Given the description of an element on the screen output the (x, y) to click on. 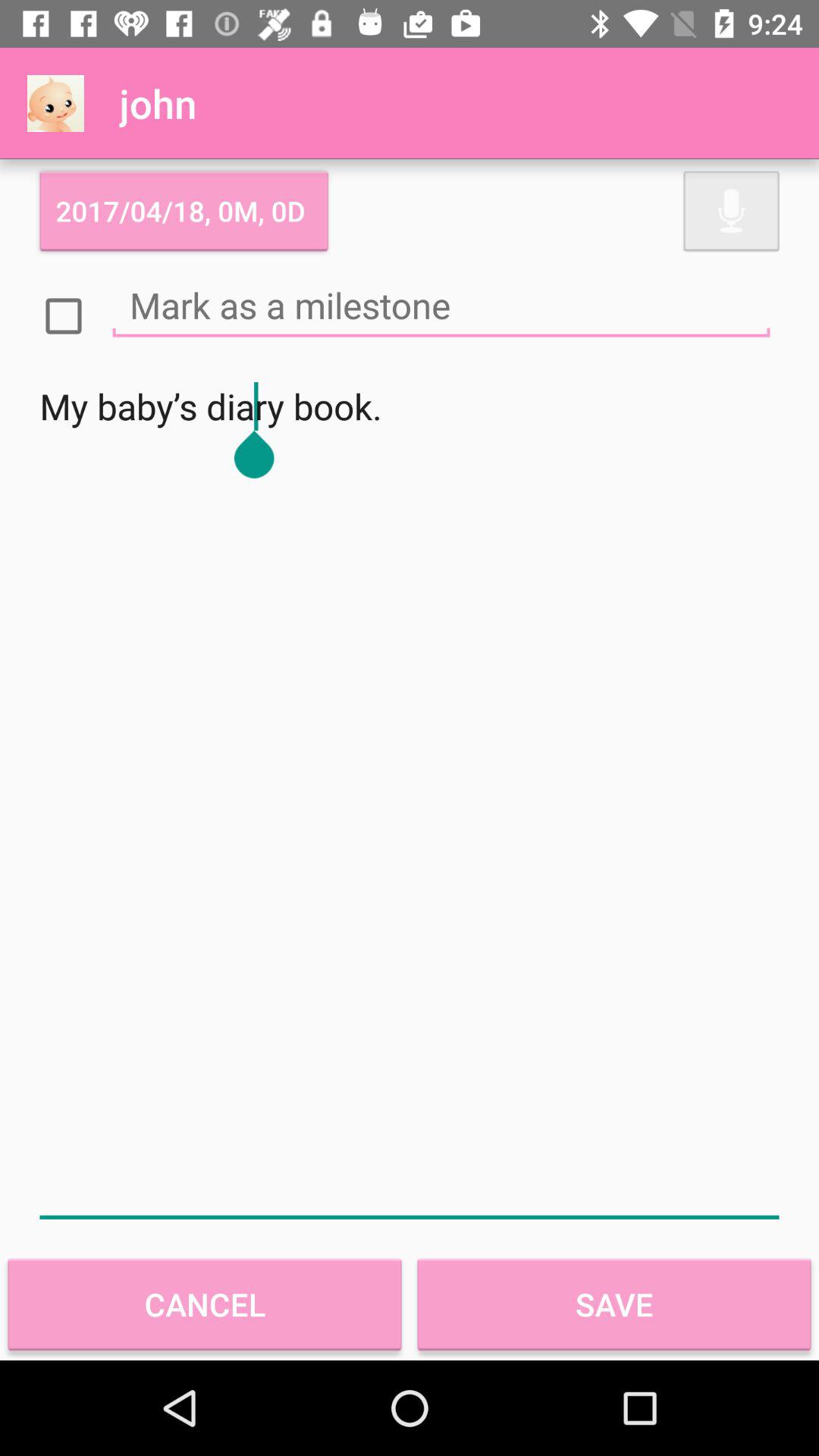
turn on icon at the top right corner (731, 210)
